Given the description of an element on the screen output the (x, y) to click on. 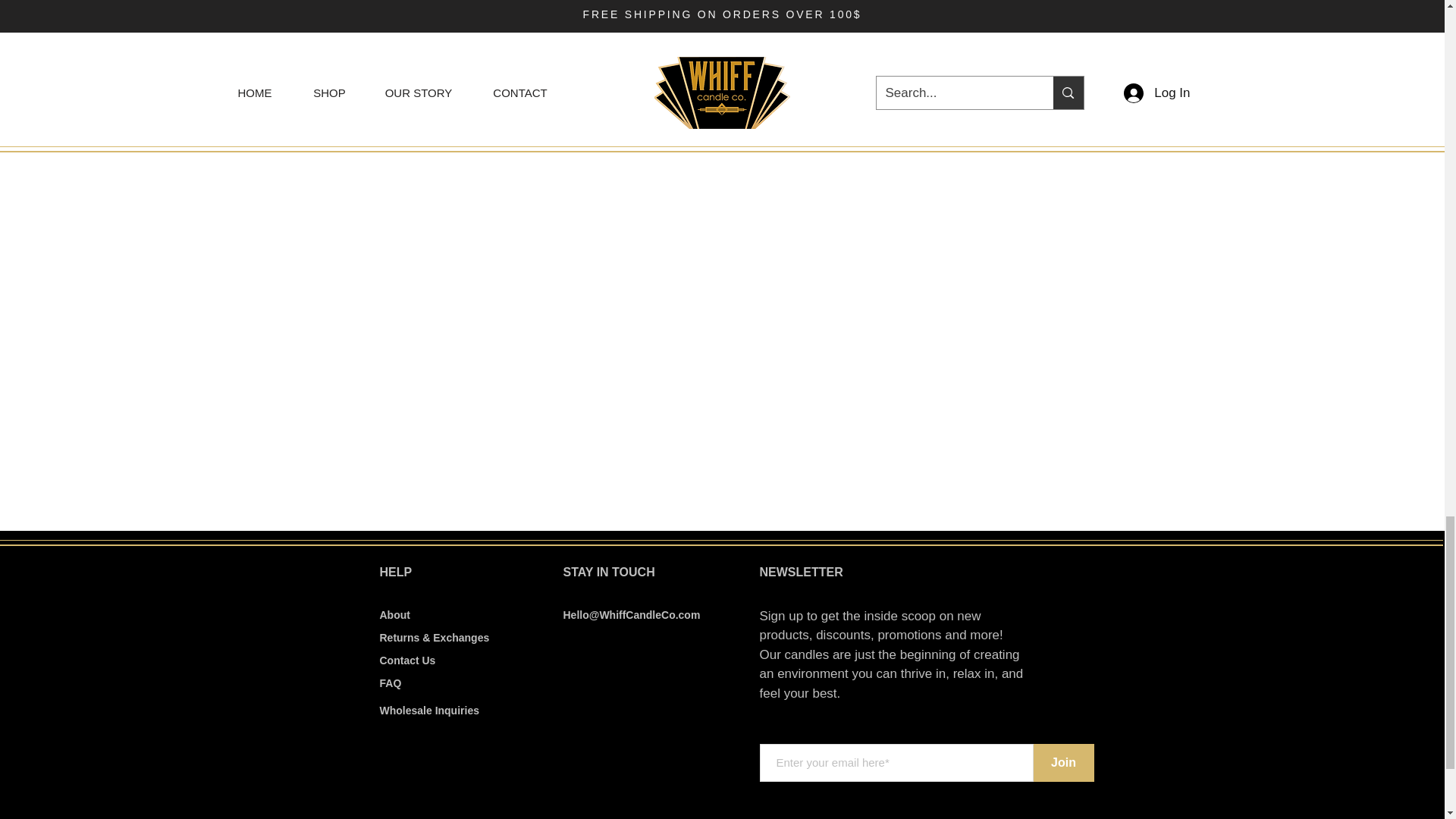
Wholesale Inquiries (428, 710)
Contact Us (406, 660)
FAQ (389, 683)
About (393, 614)
Join (1062, 762)
